Given the description of an element on the screen output the (x, y) to click on. 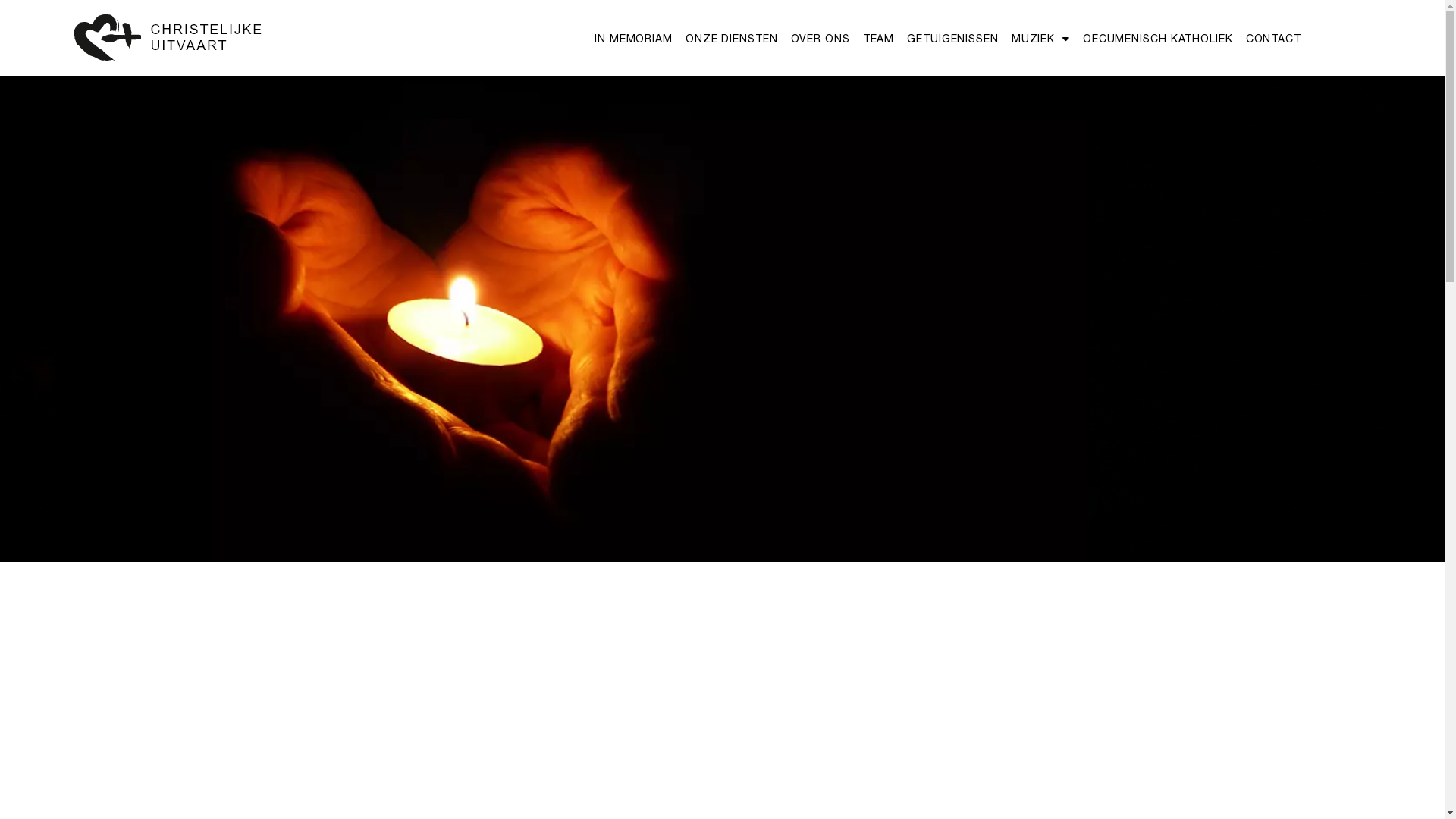
ONZE DIENSTEN Element type: text (731, 39)
MUZIEK Element type: text (1040, 39)
CONTACT Element type: text (1273, 39)
TEAM Element type: text (878, 39)
IN MEMORIAM Element type: text (633, 39)
OECUMENISCH KATHOLIEK Element type: text (1157, 39)
OVER ONS Element type: text (820, 39)
GETUIGENISSEN Element type: text (952, 39)
